Given the description of an element on the screen output the (x, y) to click on. 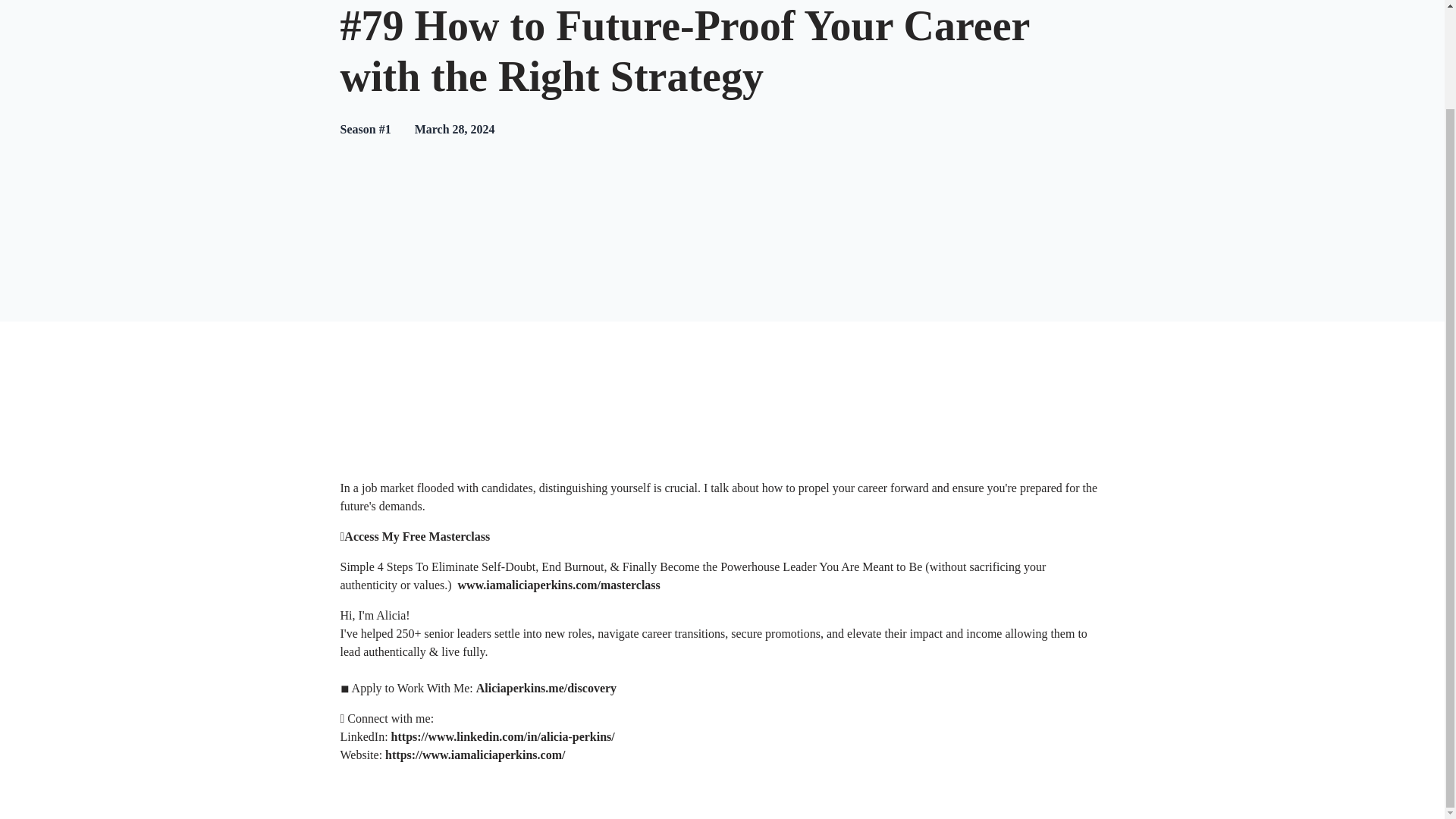
March 28, 2024 at 2:00am CST (454, 128)
